Given the description of an element on the screen output the (x, y) to click on. 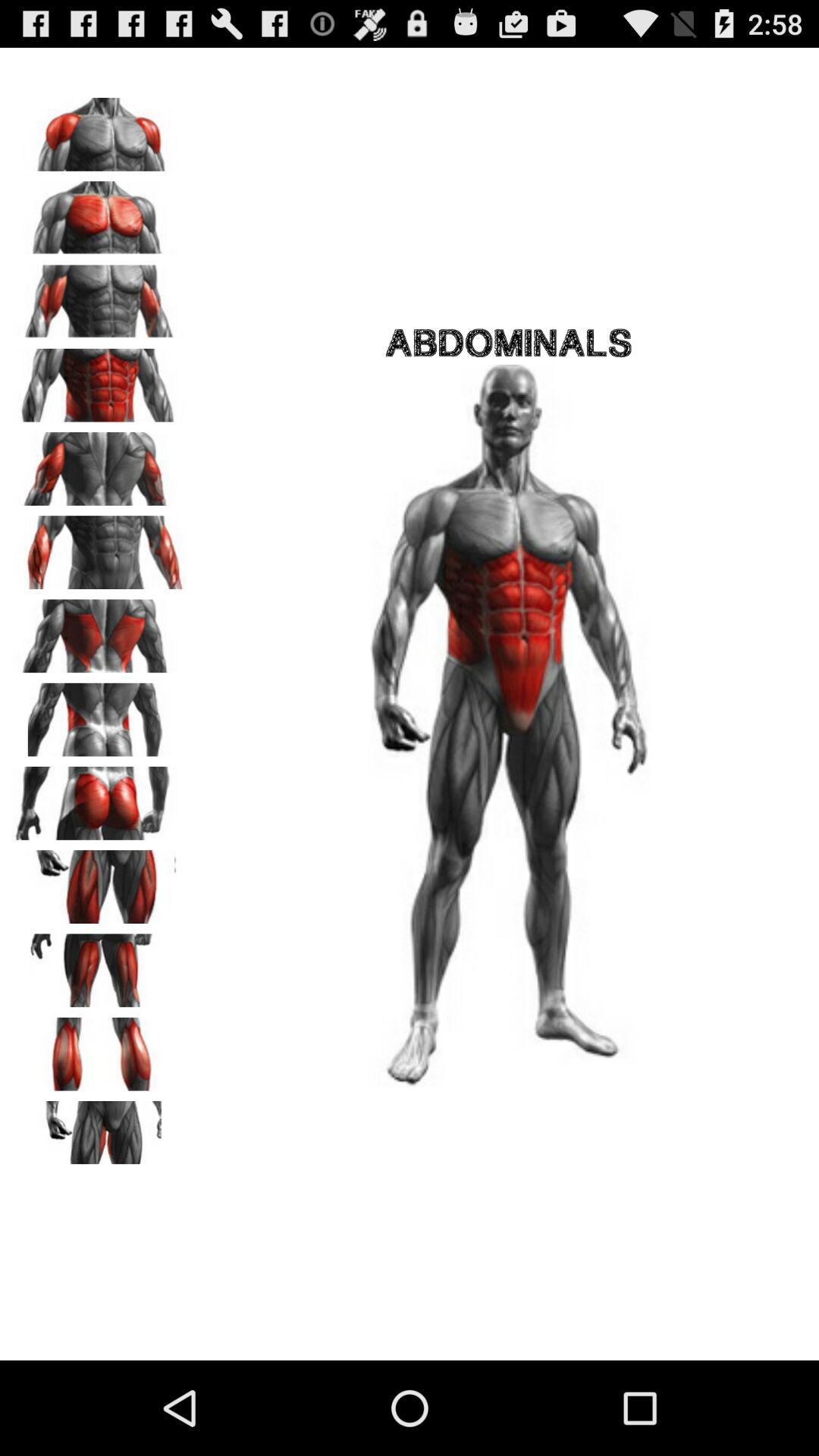
change the view (99, 881)
